Given the description of an element on the screen output the (x, y) to click on. 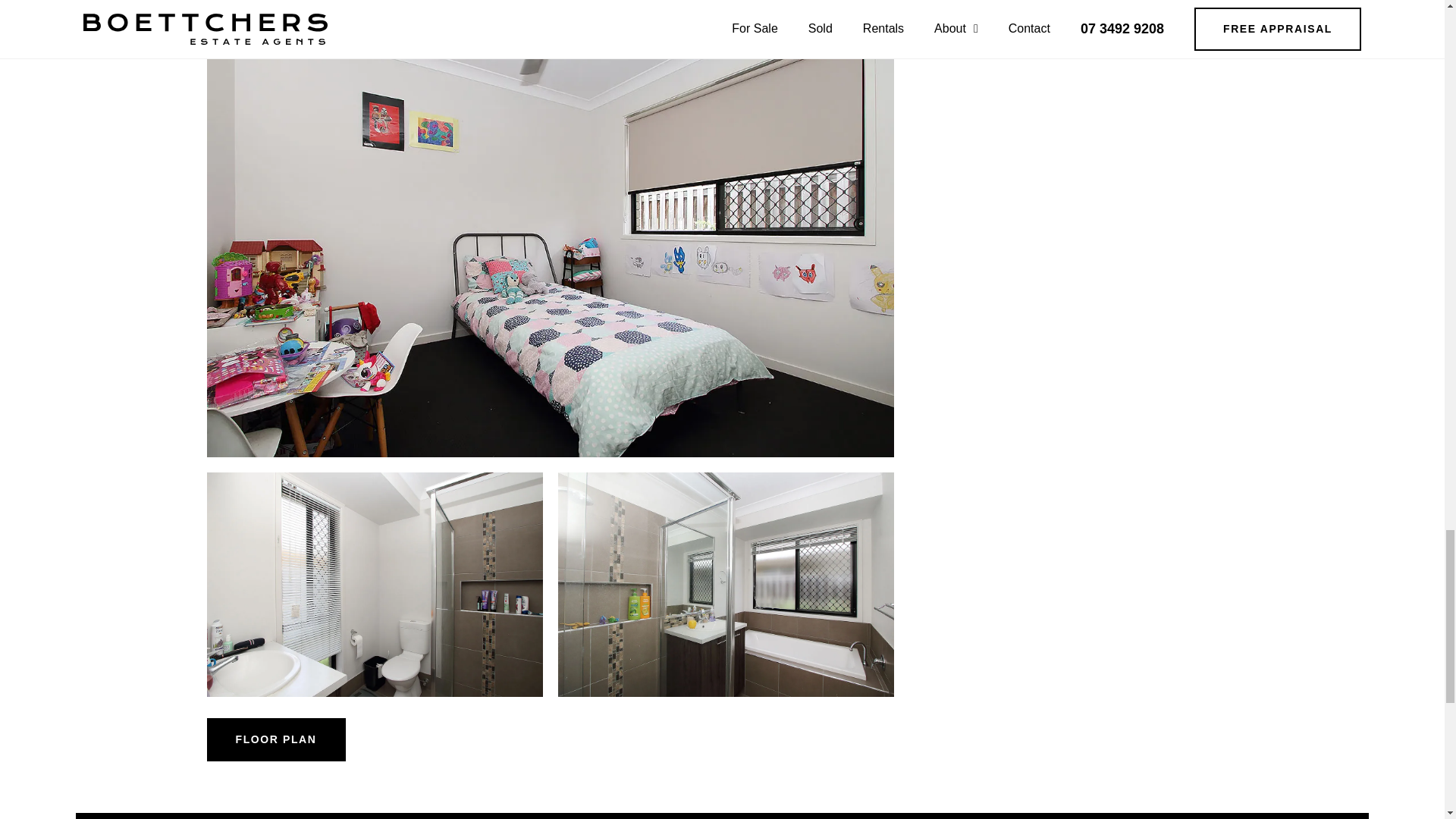
FLOOR PLAN (275, 739)
